Given the description of an element on the screen output the (x, y) to click on. 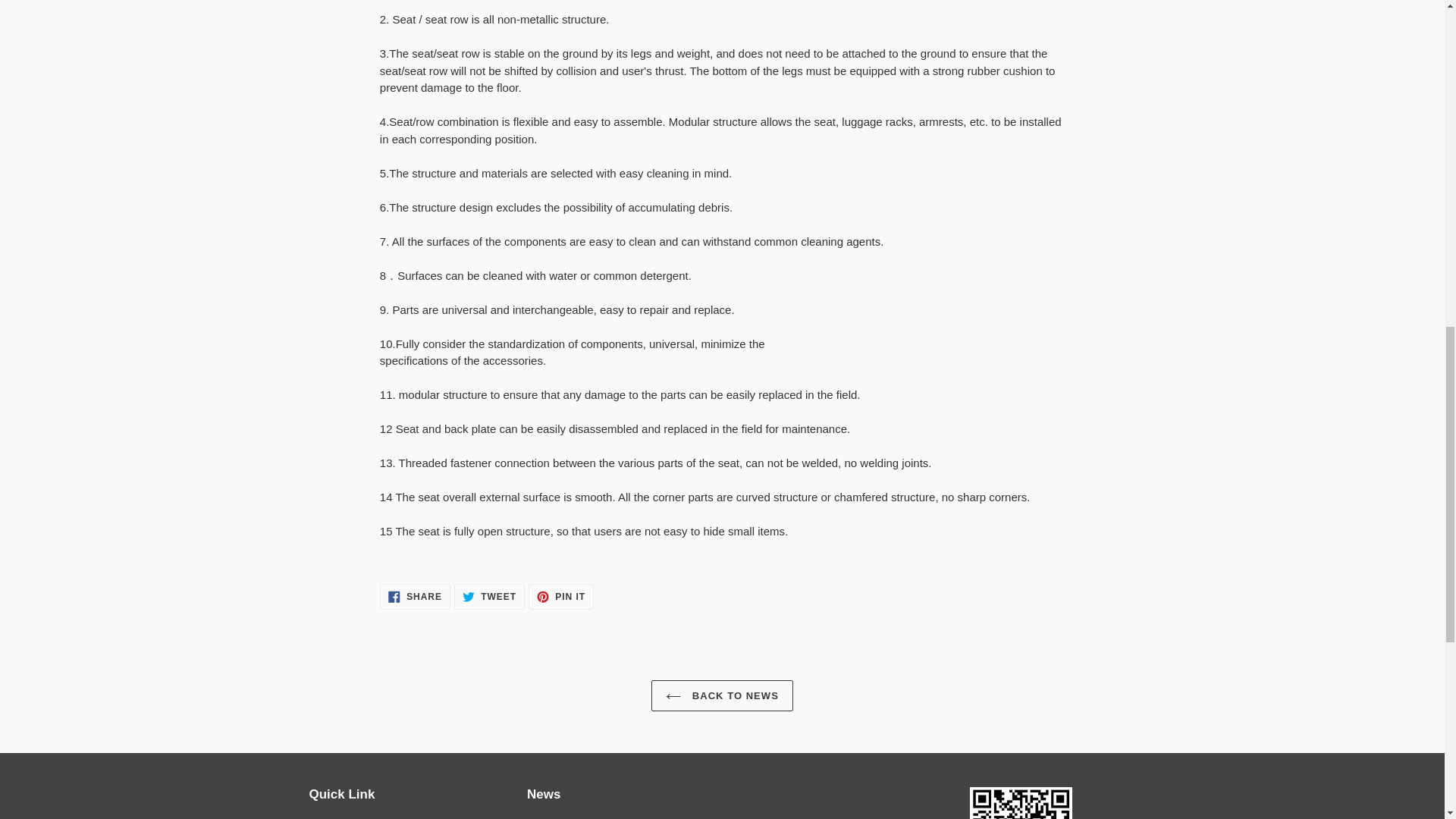
BACK TO NEWS (414, 596)
